Given the description of an element on the screen output the (x, y) to click on. 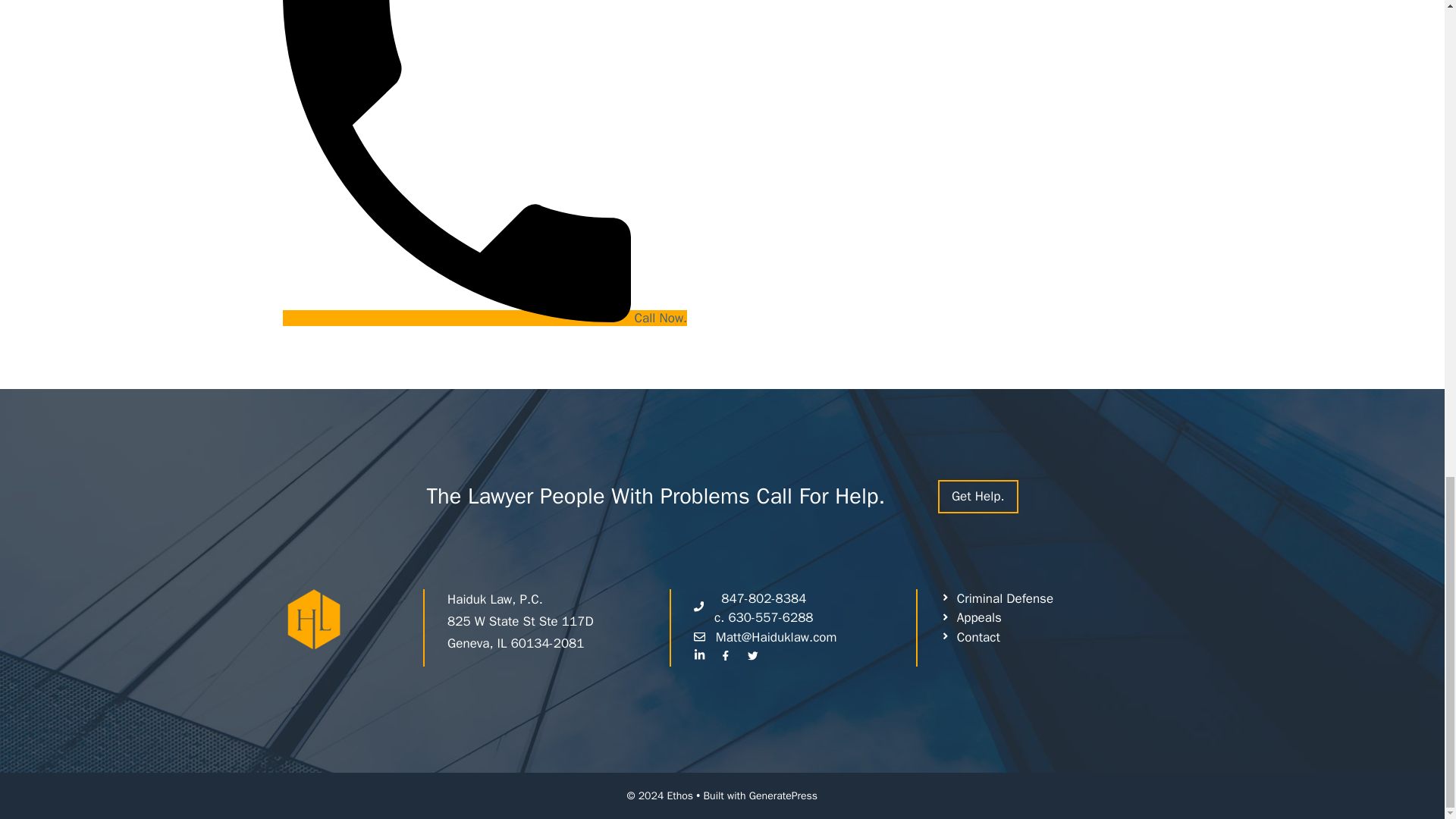
Scroll back to top (804, 608)
Get Help. (1406, 385)
Call Now. (977, 496)
